Given the description of an element on the screen output the (x, y) to click on. 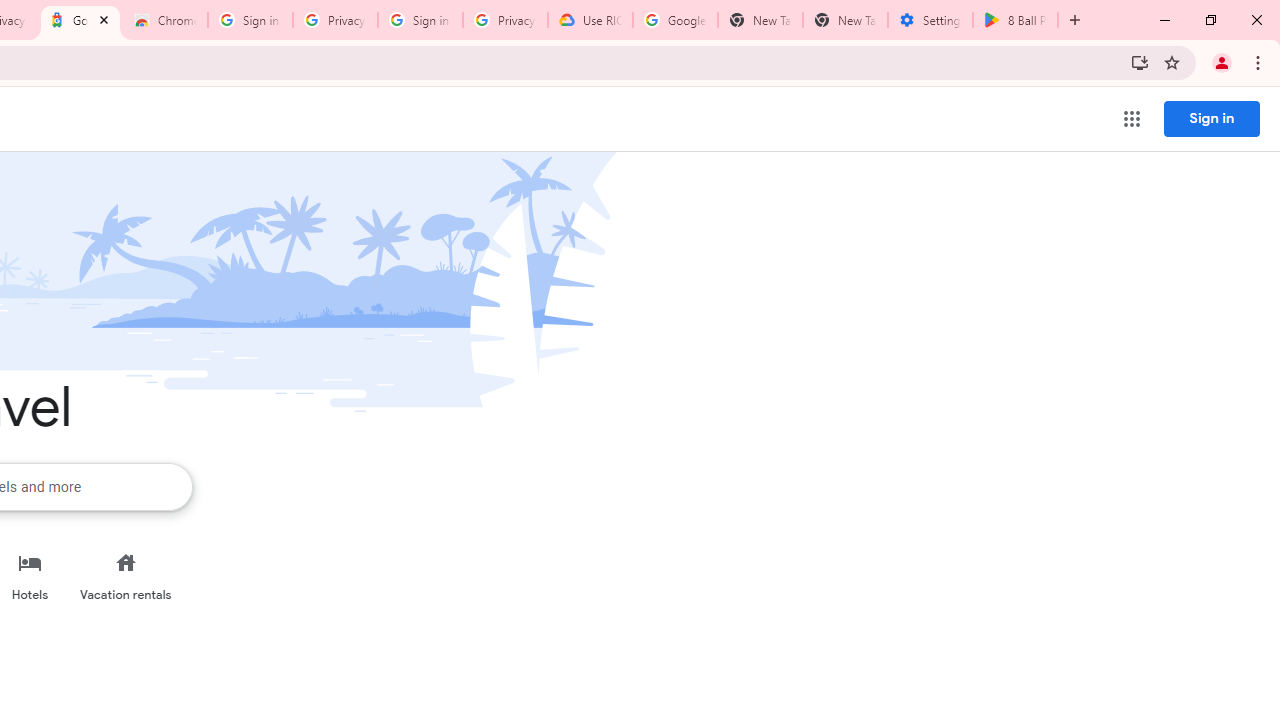
Settings - System (930, 20)
Sign in - Google Accounts (250, 20)
New Tab (845, 20)
Chrome Web Store - Color themes by Chrome (165, 20)
Sign in - Google Accounts (420, 20)
8 Ball Pool - Apps on Google Play (1015, 20)
